Given the description of an element on the screen output the (x, y) to click on. 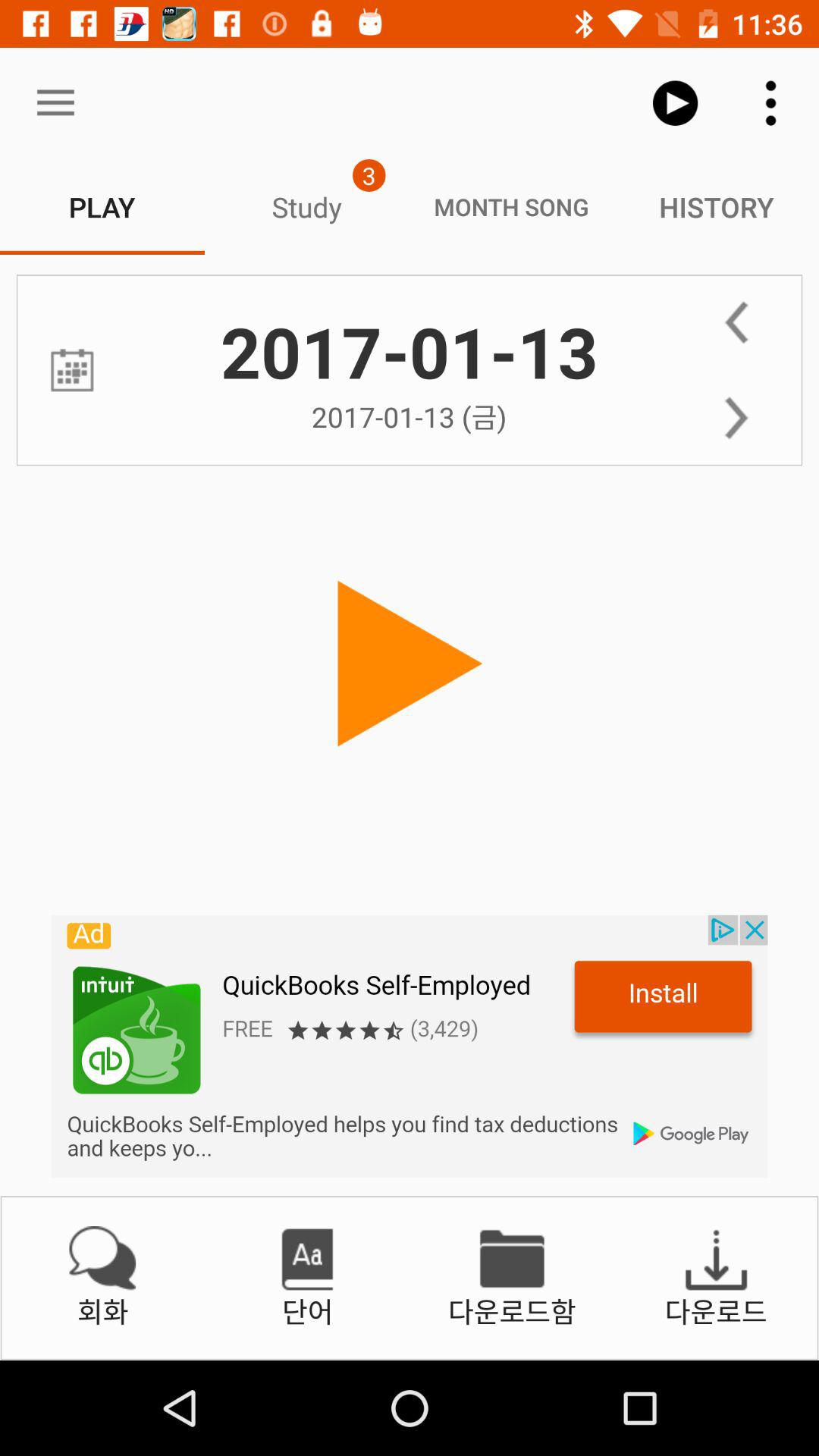
back (736, 322)
